Given the description of an element on the screen output the (x, y) to click on. 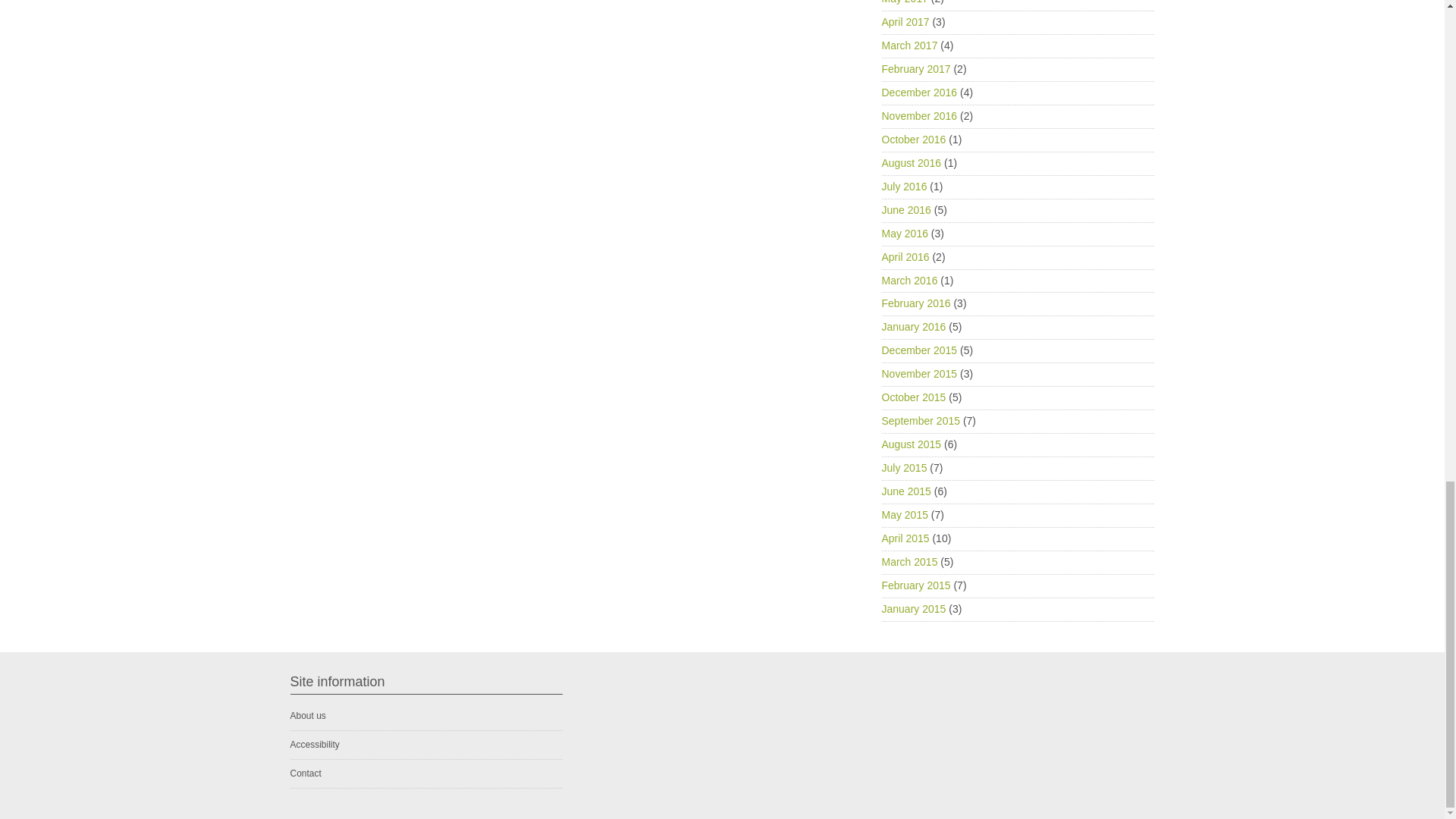
Accessibility (314, 744)
Contact (304, 773)
About us (306, 715)
